Given the description of an element on the screen output the (x, y) to click on. 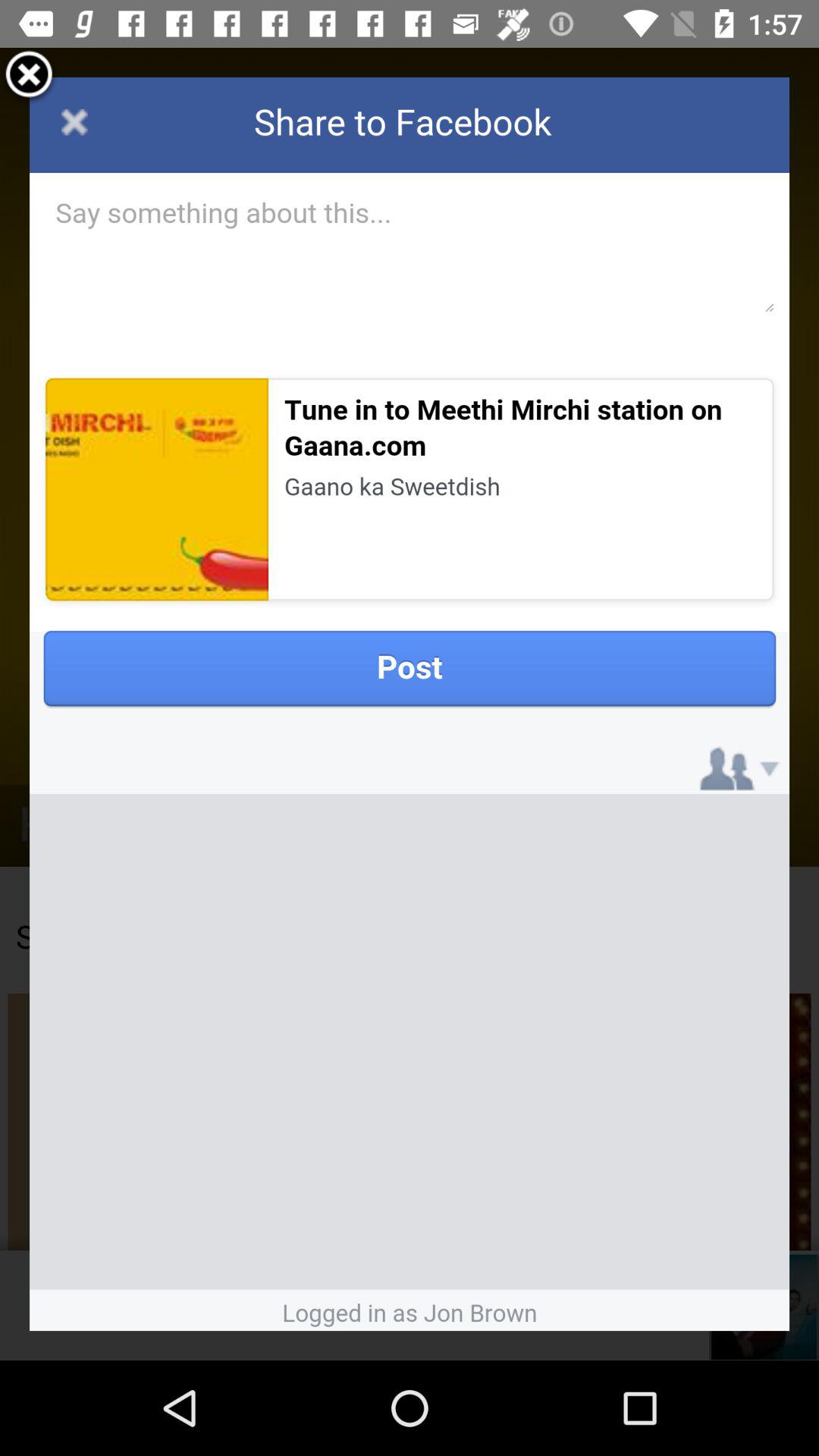
close window (29, 76)
